Given the description of an element on the screen output the (x, y) to click on. 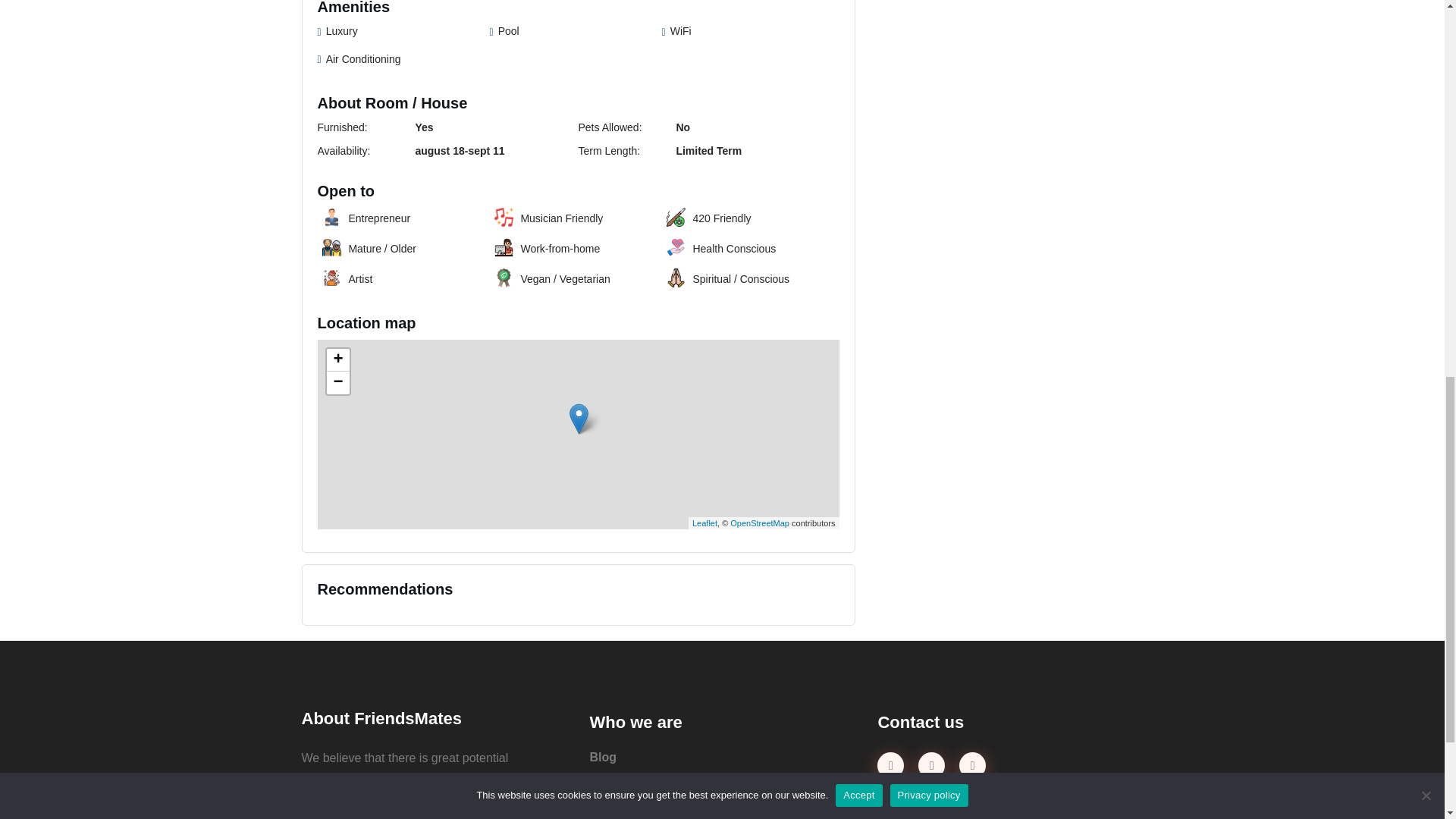
Zoom in (337, 359)
Leaflet (705, 522)
A JS library for interactive maps (705, 522)
Zoom out (337, 382)
OpenStreetMap (759, 522)
